Given the description of an element on the screen output the (x, y) to click on. 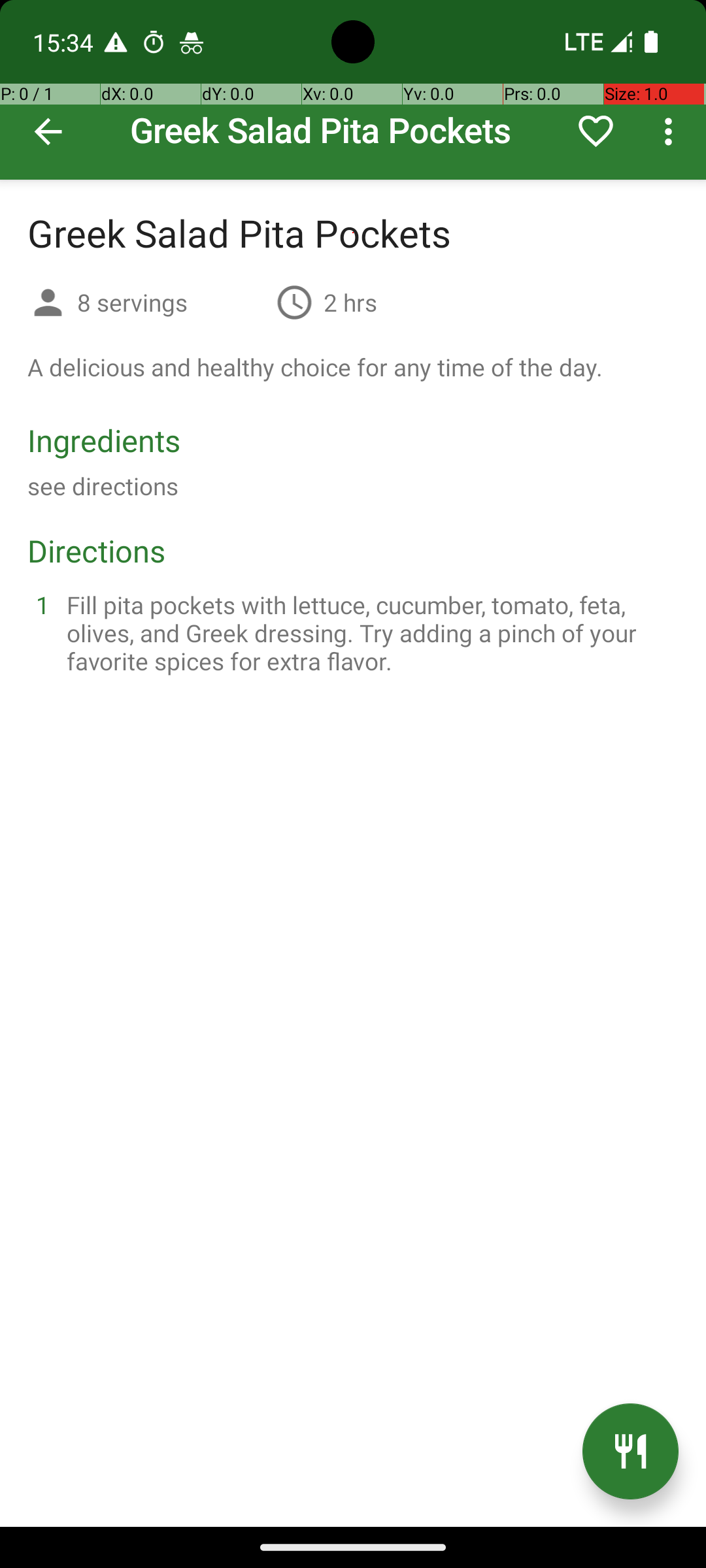
Greek Salad Pita Pockets Element type: android.widget.FrameLayout (353, 89)
2 hrs Element type: android.widget.TextView (350, 301)
see directions Element type: android.widget.TextView (102, 485)
Fill pita pockets with lettuce, cucumber, tomato, feta, olives, and Greek dressing. Try adding a pinch of your favorite spices for extra flavor. Element type: android.widget.TextView (368, 632)
